Given the description of an element on the screen output the (x, y) to click on. 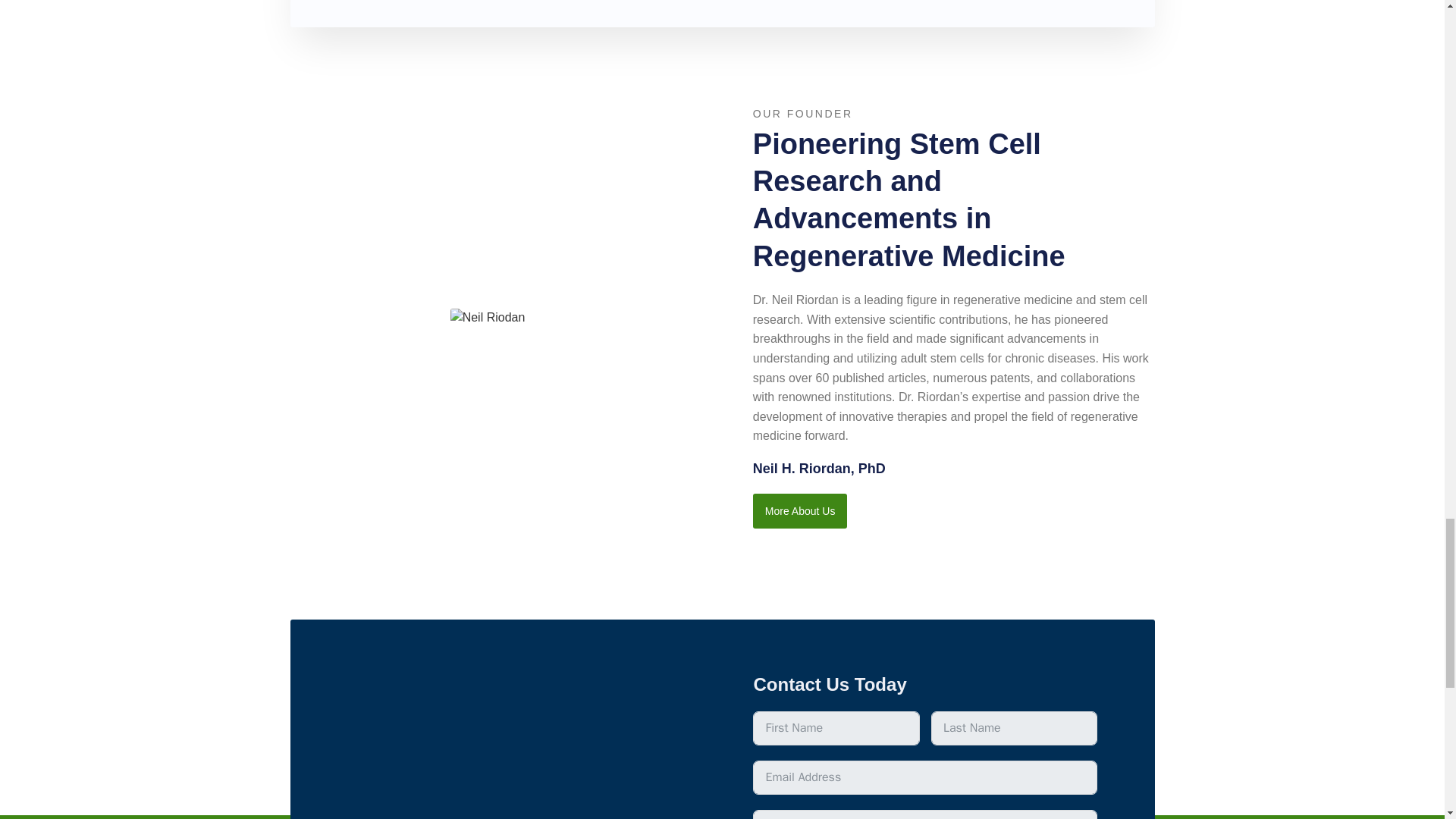
More About Us (799, 510)
medistem panama (518, 745)
Neil Riodan (487, 317)
